Given the description of an element on the screen output the (x, y) to click on. 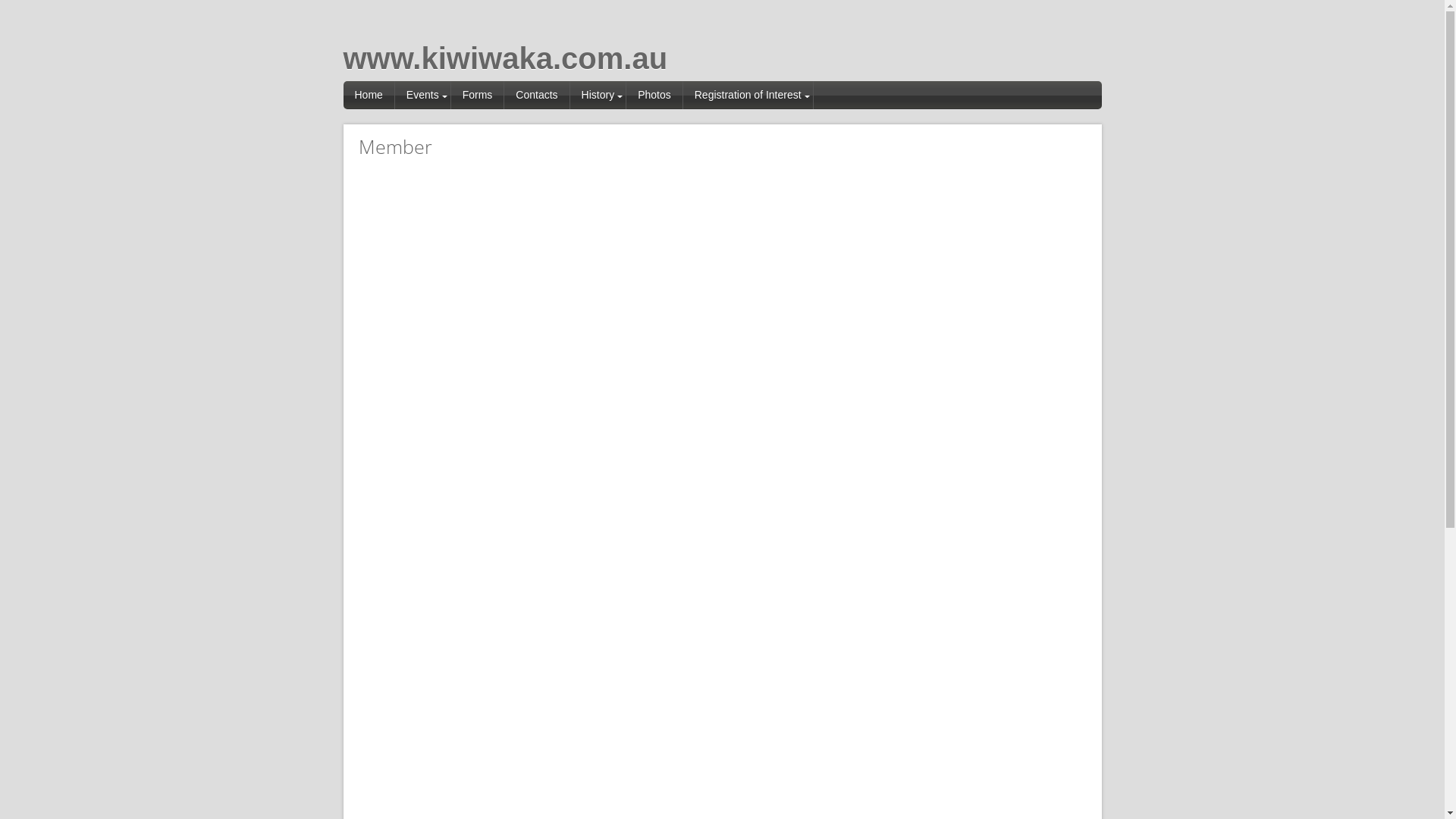
Registration of Interest Element type: text (748, 95)
Home Element type: text (368, 95)
www.kiwiwaka.com.au Element type: text (504, 58)
Contacts Element type: text (536, 95)
History Element type: text (598, 95)
Events Element type: text (423, 95)
Forms Element type: text (478, 95)
Photos Element type: text (654, 95)
